Given the description of an element on the screen output the (x, y) to click on. 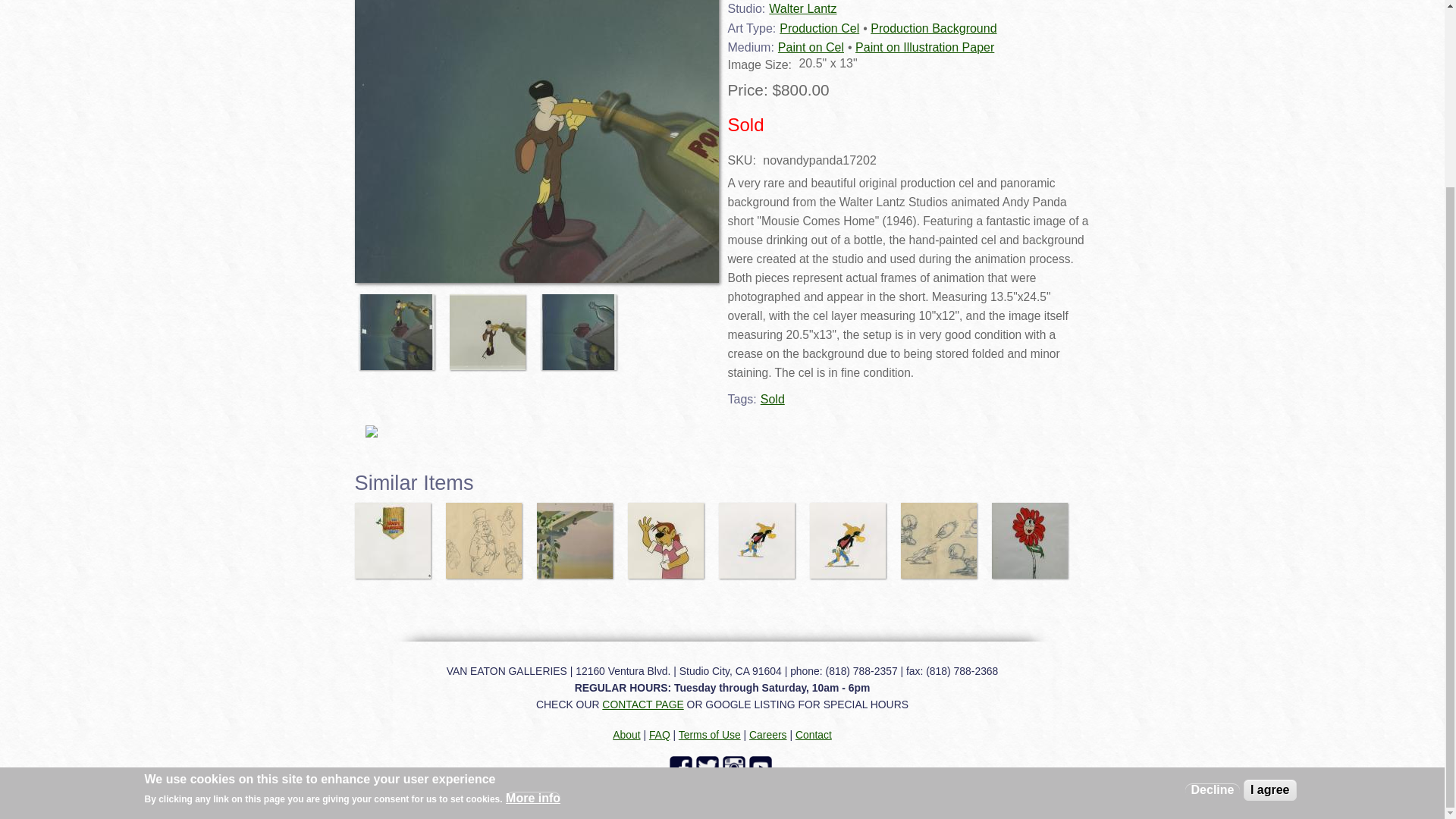
Terms of Use (709, 734)
Web and Business Development (1012, 792)
Production Background (932, 28)
About (626, 734)
FAQ (659, 734)
Paint on Illustration Paper (925, 47)
Follow Van Eaton Galleries on Twitter (708, 766)
Walter Lantz (801, 8)
Follow Van Eaton Galleries on Facebook (681, 766)
Follow Van Eaton Galleries on Instagram (735, 766)
Follow Van Eaton Galleries on YouTube (762, 766)
Paint on Cel (810, 47)
CONTACT PAGE (642, 704)
Production Cel (818, 28)
Sold (772, 399)
